Given the description of an element on the screen output the (x, y) to click on. 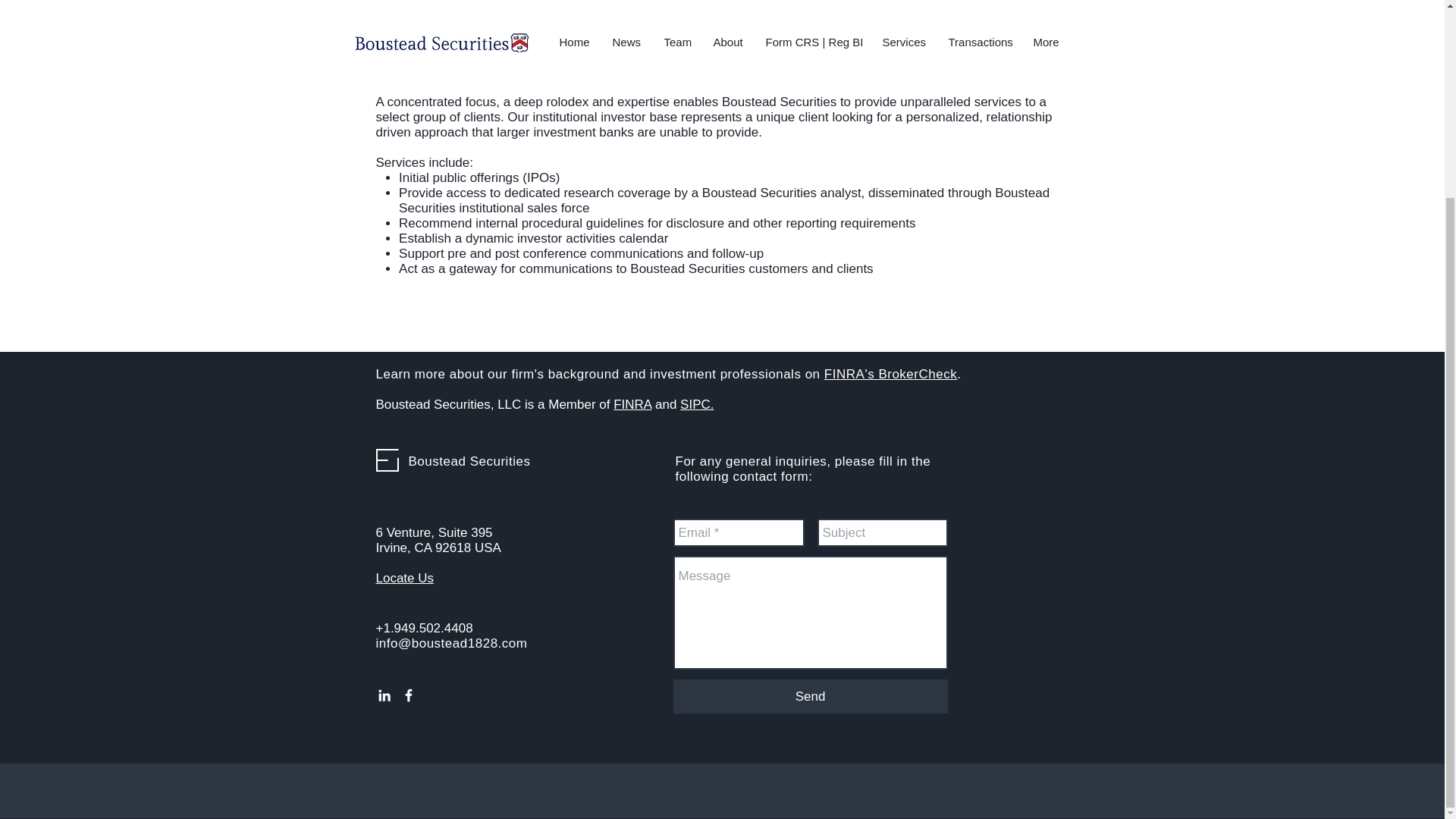
Boustead Securities (468, 461)
Locate Us (404, 577)
SIPC. (696, 404)
FINRA's BrokerCheck (890, 373)
FINRA (631, 404)
Send (809, 696)
